Given the description of an element on the screen output the (x, y) to click on. 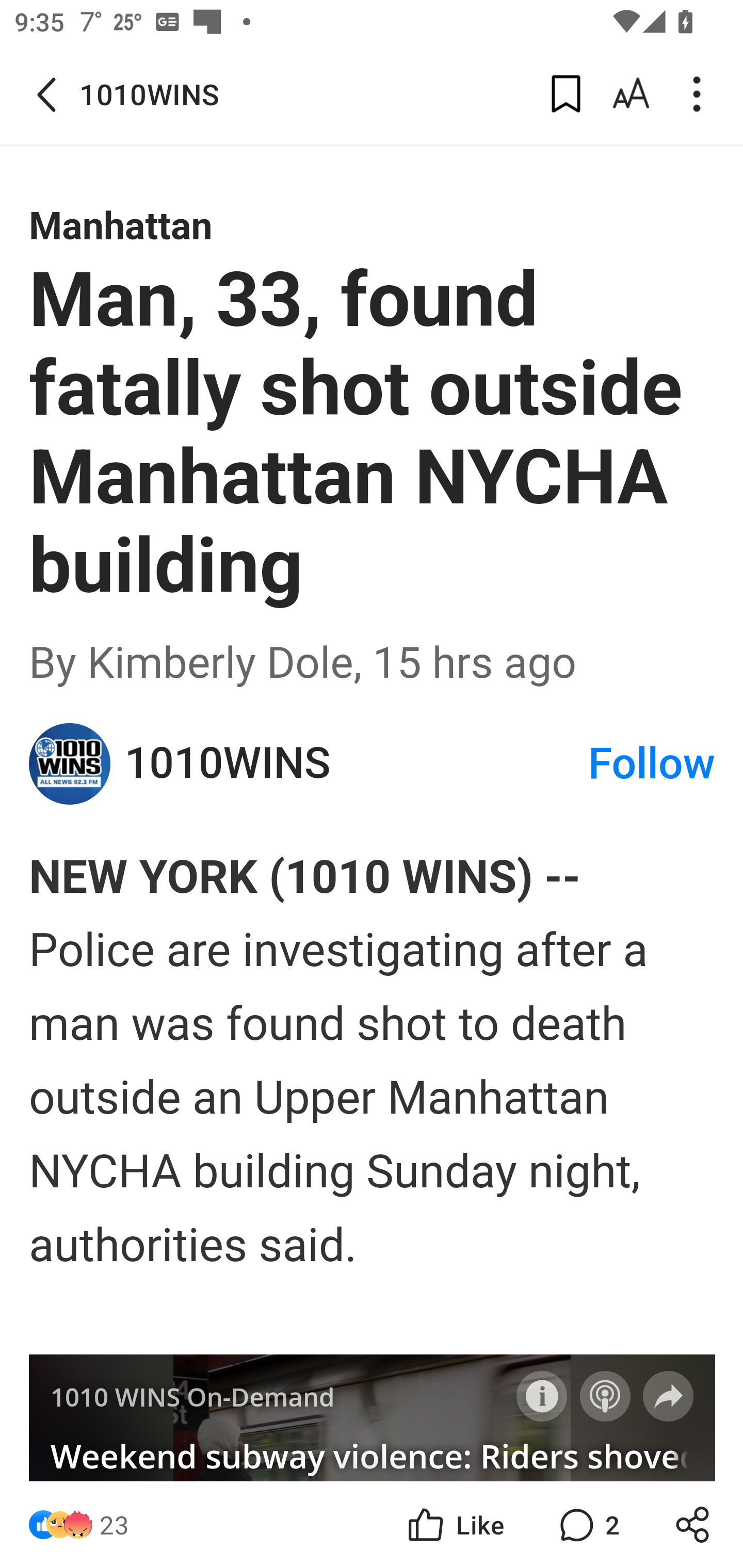
1010WINS (70, 763)
1010WINS (355, 763)
Follow (651, 763)
Info (542, 1396)
Follow (605, 1396)
Share (668, 1396)
Like (454, 1524)
2 (587, 1524)
